Given the description of an element on the screen output the (x, y) to click on. 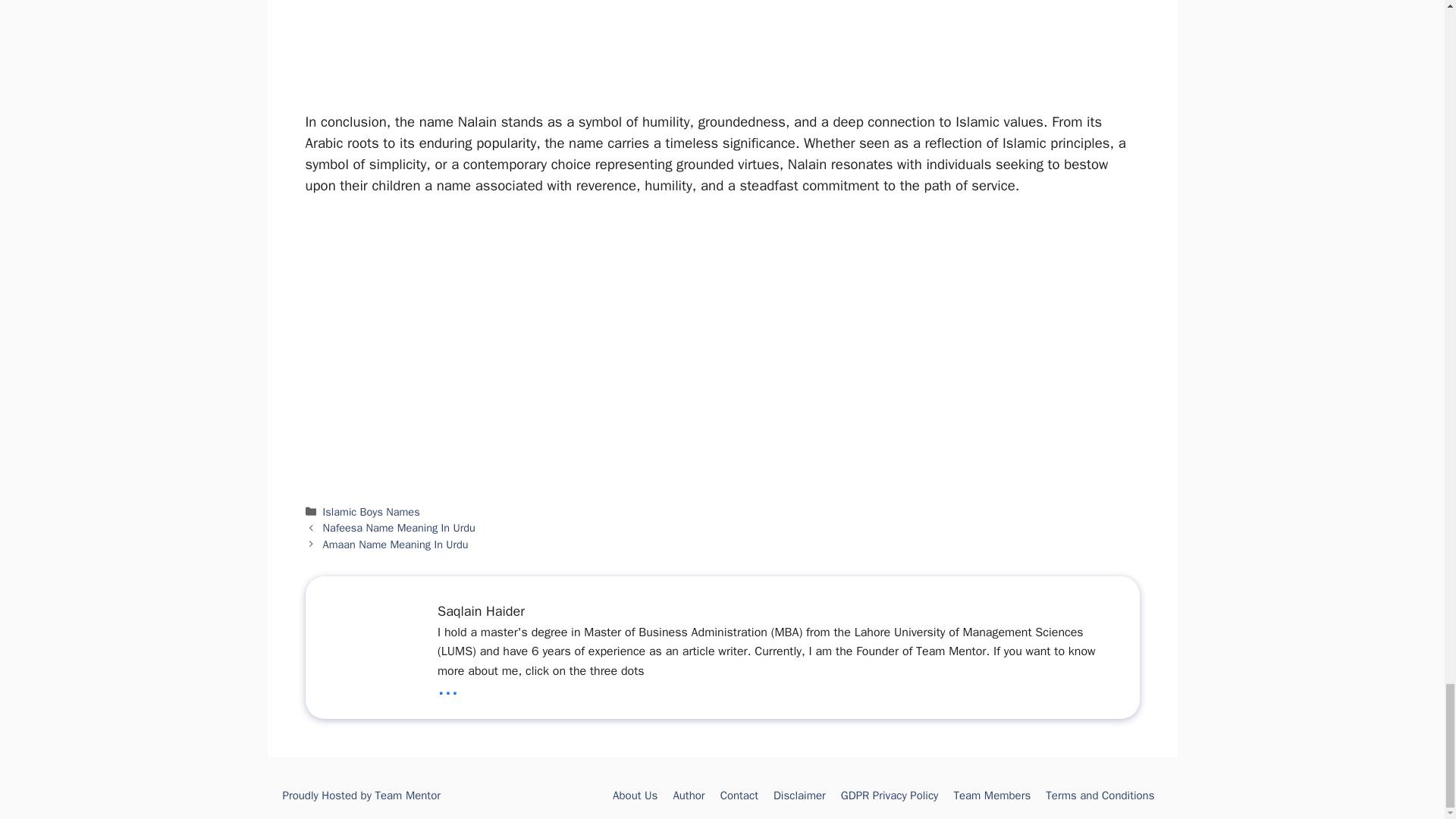
Nafeesa Name Meaning In Urdu (399, 527)
About Us (635, 795)
Islamic Boys Names (371, 511)
Amaan Name Meaning In Urdu (395, 544)
